Given the description of an element on the screen output the (x, y) to click on. 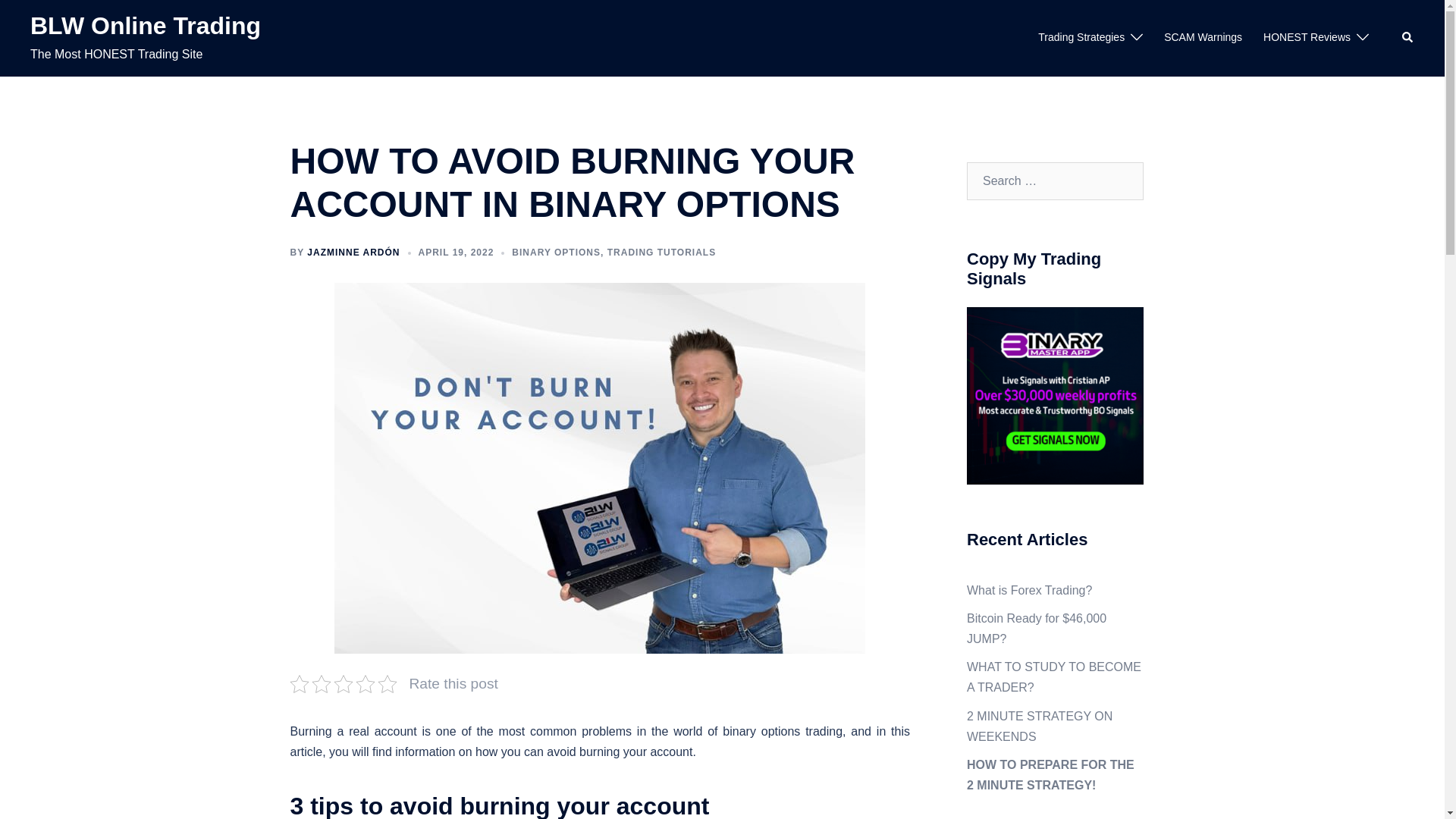
Search (1407, 37)
SCAM Warnings (1202, 37)
Trading Strategies (1081, 37)
HONEST Reviews (1307, 37)
BLW Online Trading (145, 25)
